Given the description of an element on the screen output the (x, y) to click on. 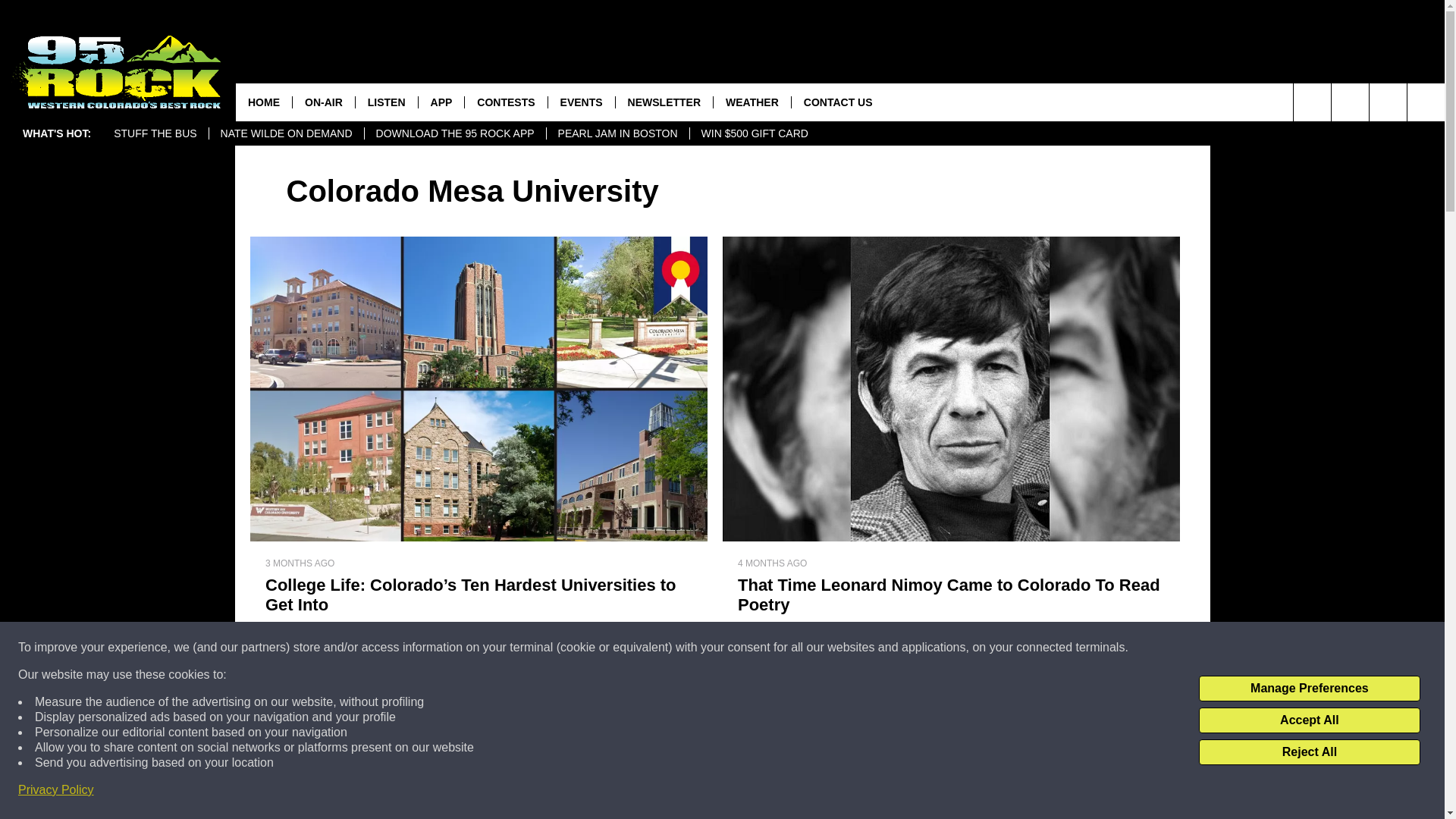
PEARL JAM IN BOSTON (617, 133)
LISTEN (386, 102)
HOME (263, 102)
WHAT'S HOT: (56, 133)
Manage Preferences (1309, 688)
DOWNLOAD THE 95 ROCK APP (455, 133)
Reject All (1309, 751)
Accept All (1309, 720)
STUFF THE BUS (154, 133)
Privacy Policy (55, 789)
CONTESTS (505, 102)
ON-AIR (323, 102)
NATE WILDE ON DEMAND (286, 133)
APP (440, 102)
